Given the description of an element on the screen output the (x, y) to click on. 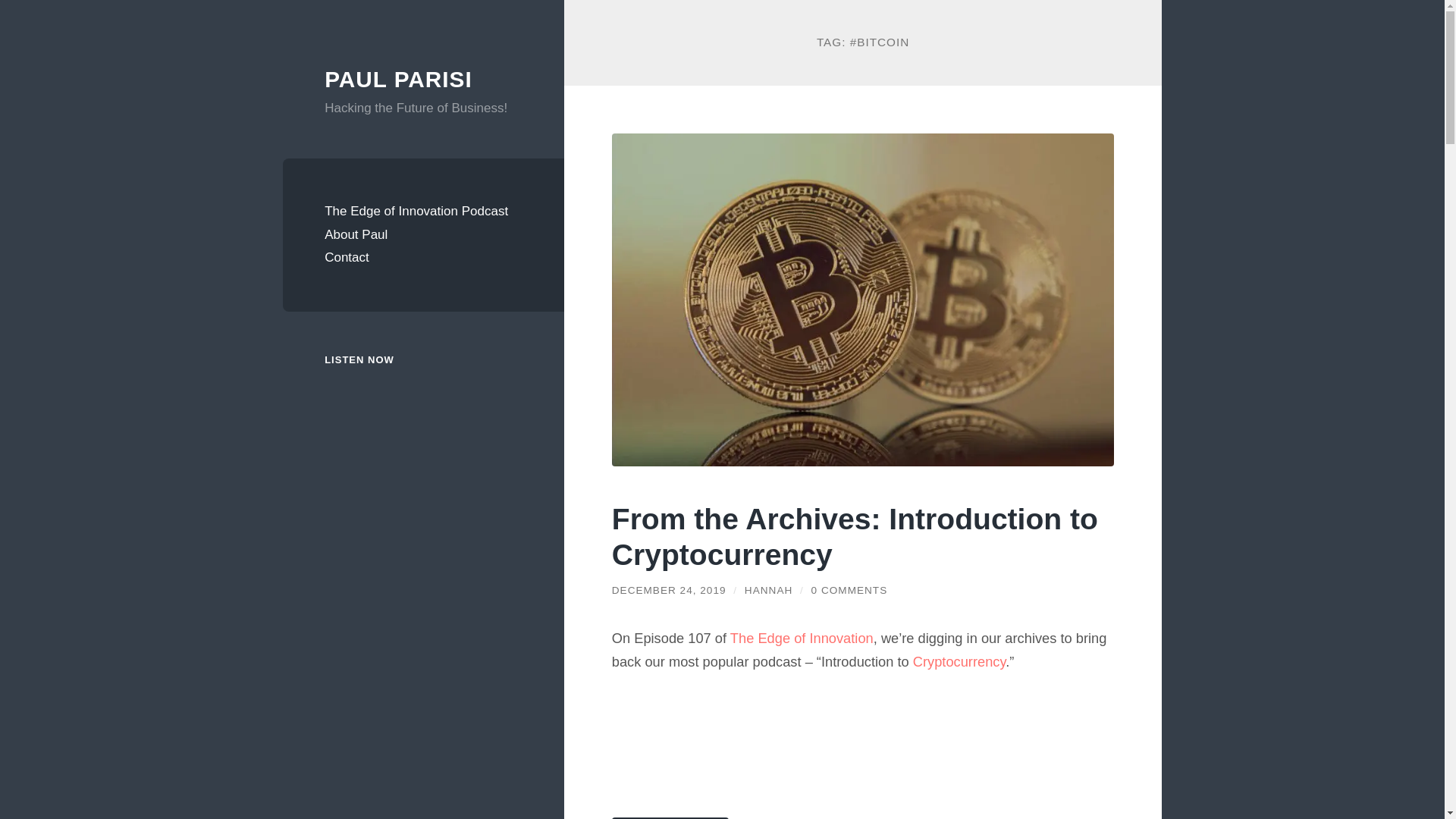
About Paul (422, 234)
Contact (422, 257)
The Edge of Innovation (801, 637)
HANNAH (768, 590)
0 COMMENTS (849, 590)
Continue reading (670, 818)
DECEMBER 24, 2019 (668, 590)
PAUL PARISI (397, 78)
Posts by Hannah (768, 590)
Cryptocurrency (959, 661)
